Given the description of an element on the screen output the (x, y) to click on. 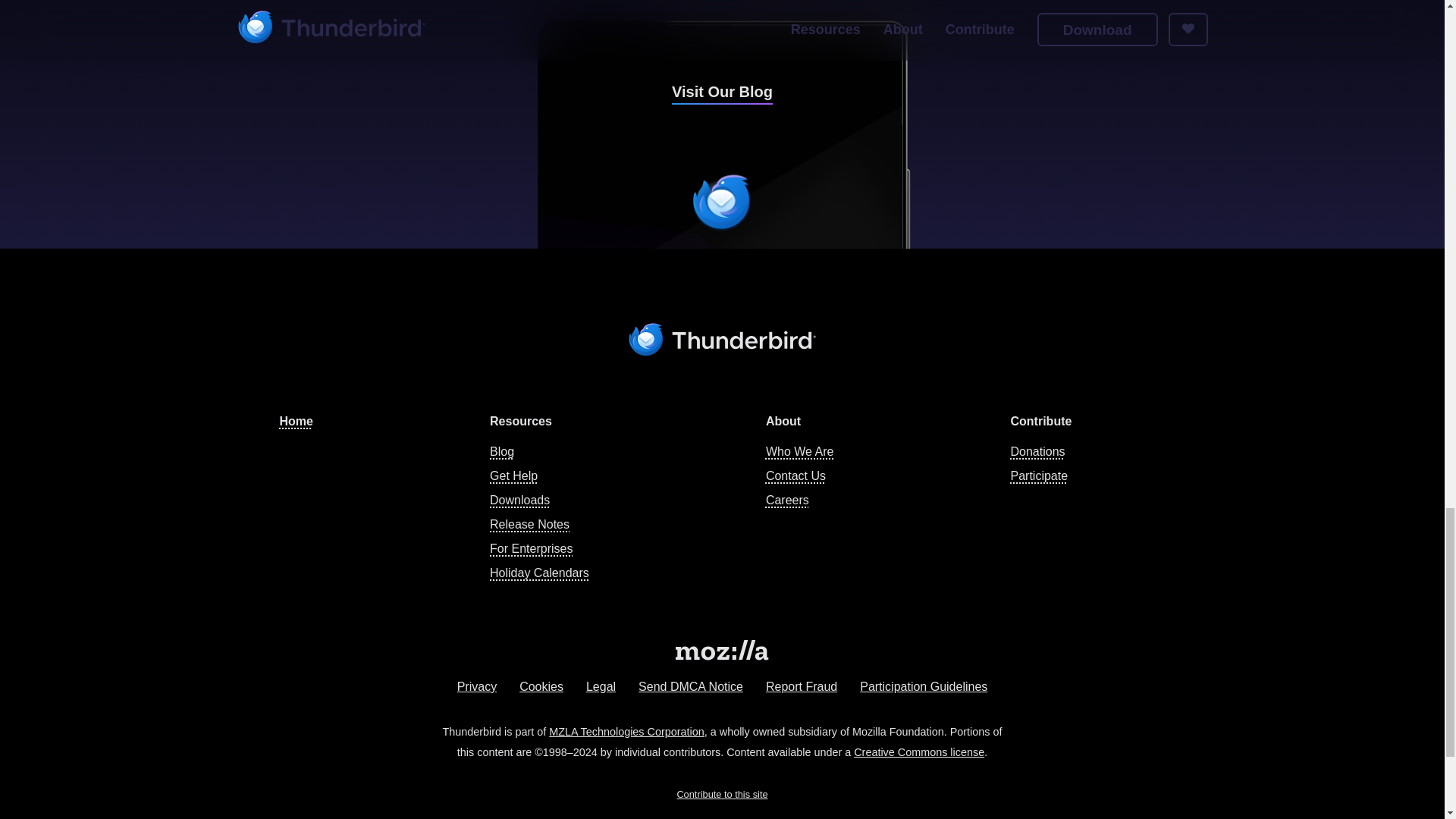
Blog (501, 451)
Home (296, 420)
Get Help (513, 475)
Visit Our Blog (722, 91)
